Given the description of an element on the screen output the (x, y) to click on. 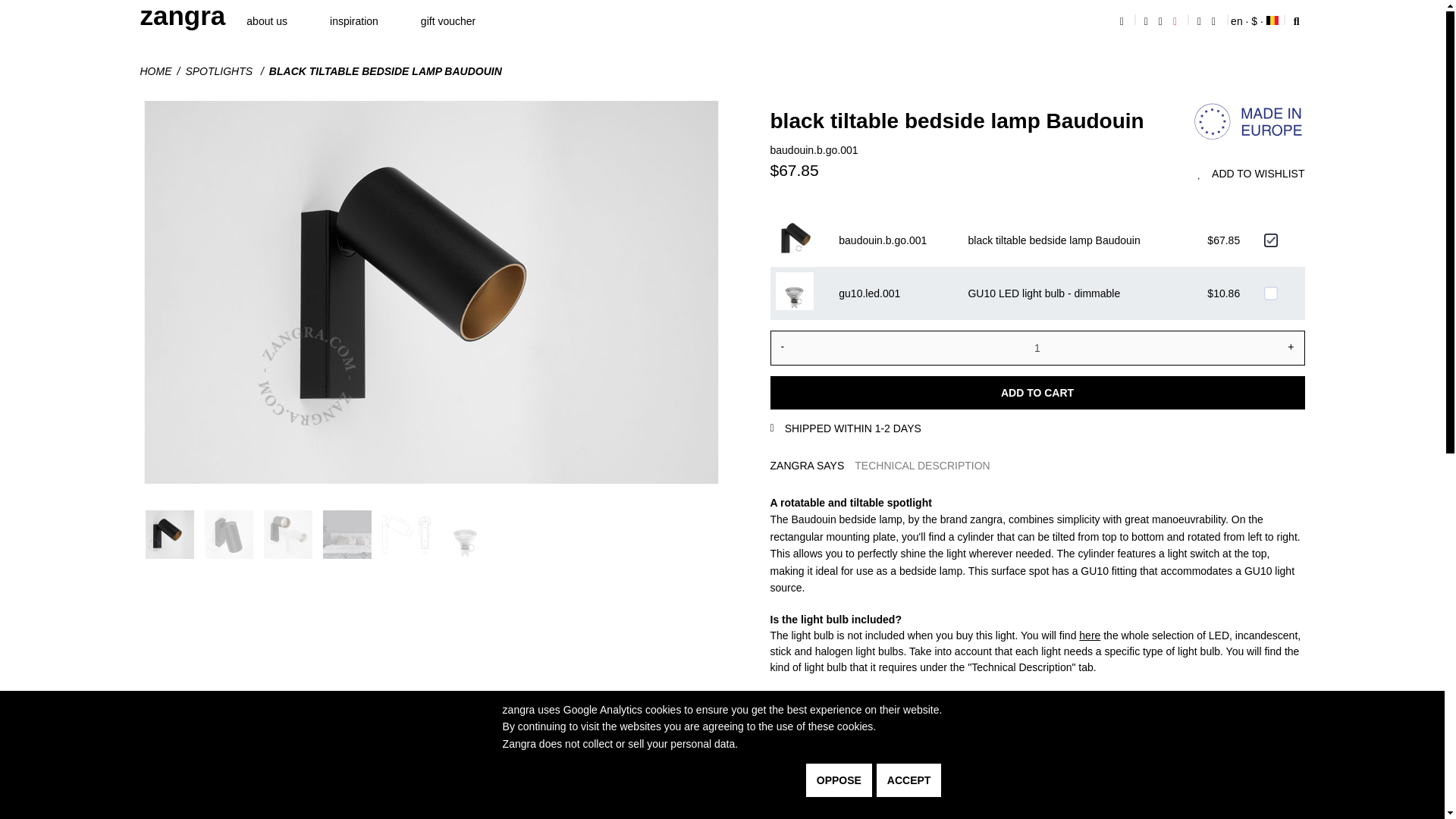
inspiration (354, 21)
gu10.led.001 (1270, 293)
Faq (1199, 21)
HOME (161, 71)
here (1089, 635)
ADD TO CART (1037, 392)
Home (1123, 21)
about us (266, 21)
contact (1215, 21)
zangra (182, 15)
TECHNICAL DESCRIPTION (922, 465)
gift voucher (447, 21)
Here (781, 794)
wishlist (1176, 21)
SPOTLIGHTS (225, 71)
